Given the description of an element on the screen output the (x, y) to click on. 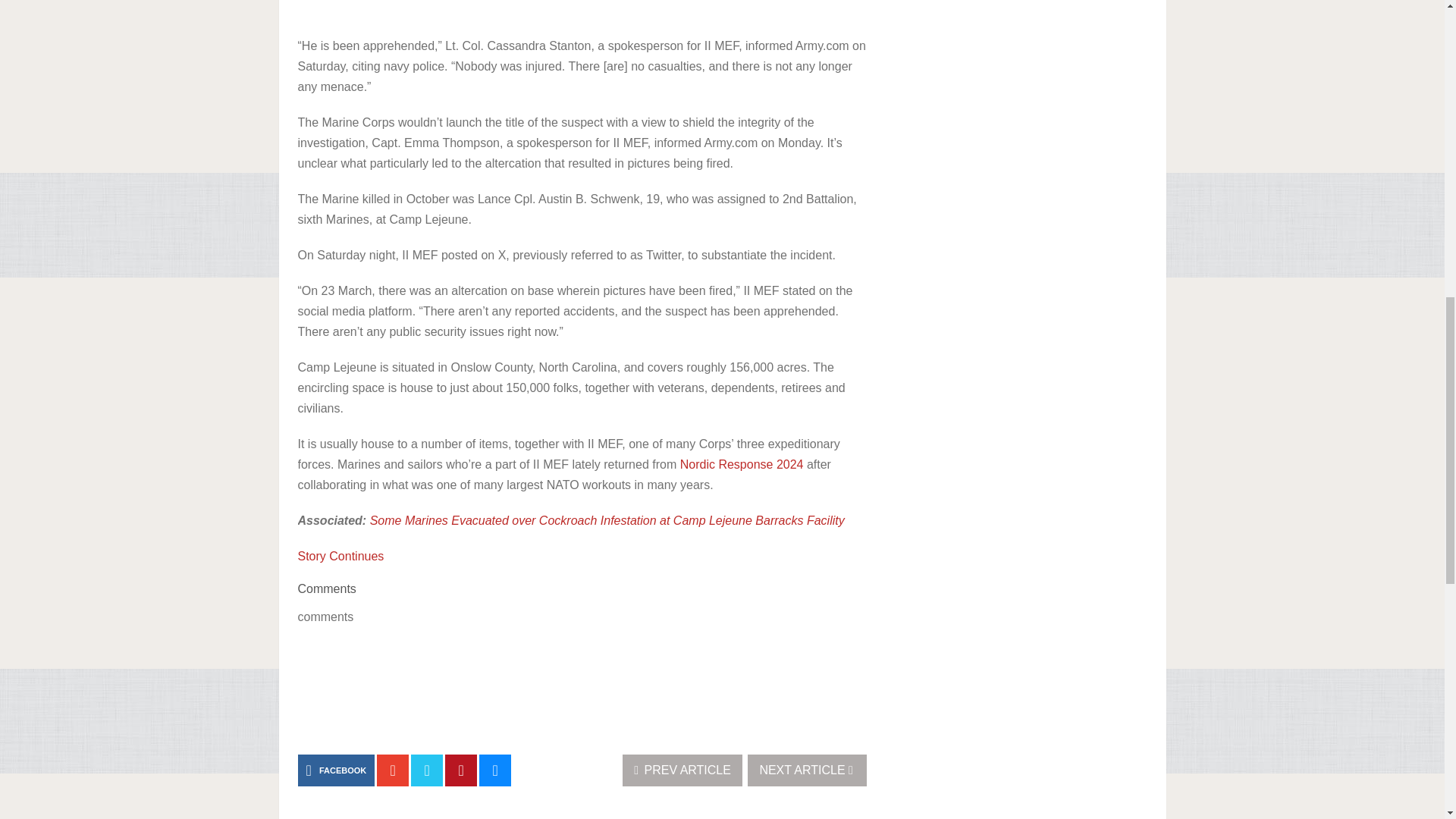
FACEBOOK (335, 770)
Nordic Response 2024 (741, 463)
Story Continues (340, 555)
